Given the description of an element on the screen output the (x, y) to click on. 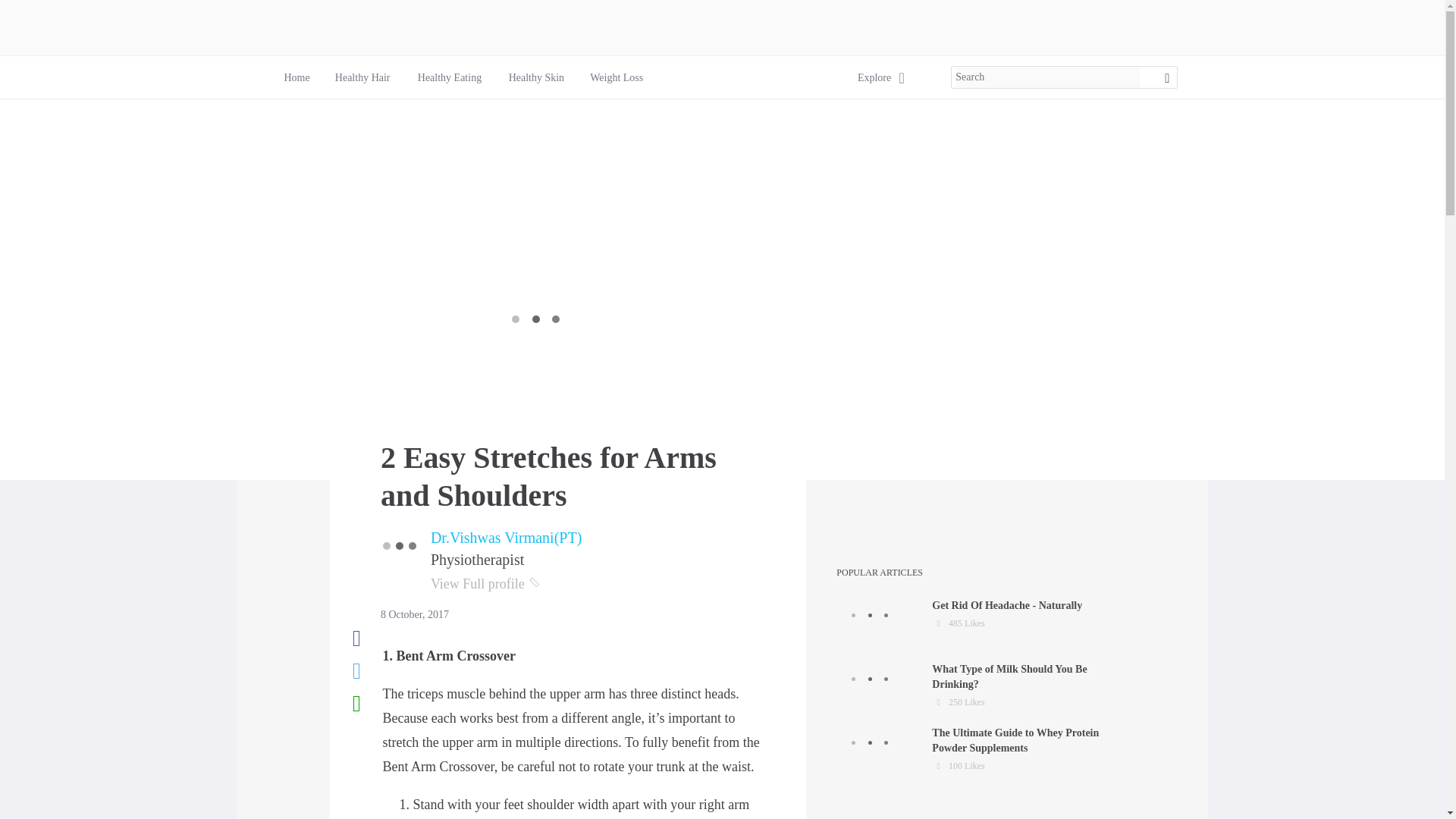
Home (295, 77)
Healthy Skin (535, 77)
Explore (874, 77)
Healthy Hair (362, 77)
Healthy Skin (536, 77)
Healthy Hair (362, 77)
Weight Loss (616, 77)
Healthy Eating (977, 622)
Healthy Eating (977, 686)
Weight Loss (450, 77)
